Given the description of an element on the screen output the (x, y) to click on. 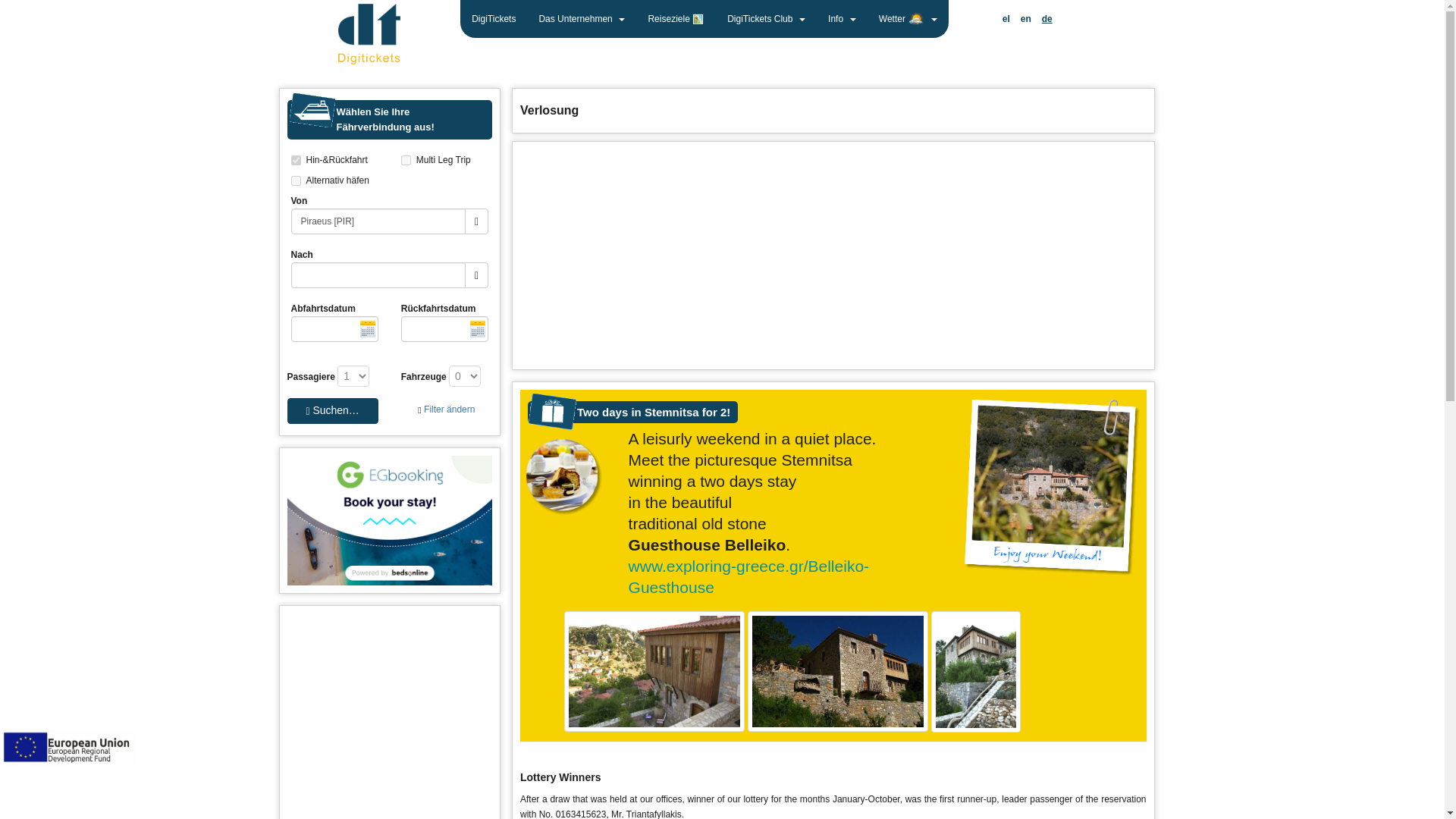
on (296, 180)
en (1025, 18)
el (1005, 18)
Info (841, 18)
DigiTickets (493, 18)
Wetter   (908, 18)
DigiTickets (368, 32)
de (1047, 18)
on (405, 160)
DigiTickets (493, 18)
Reiseziele (676, 18)
Das Unternehmen (581, 18)
DigiTickets Club (766, 18)
on (296, 160)
Reiseziele (676, 18)
